Given the description of an element on the screen output the (x, y) to click on. 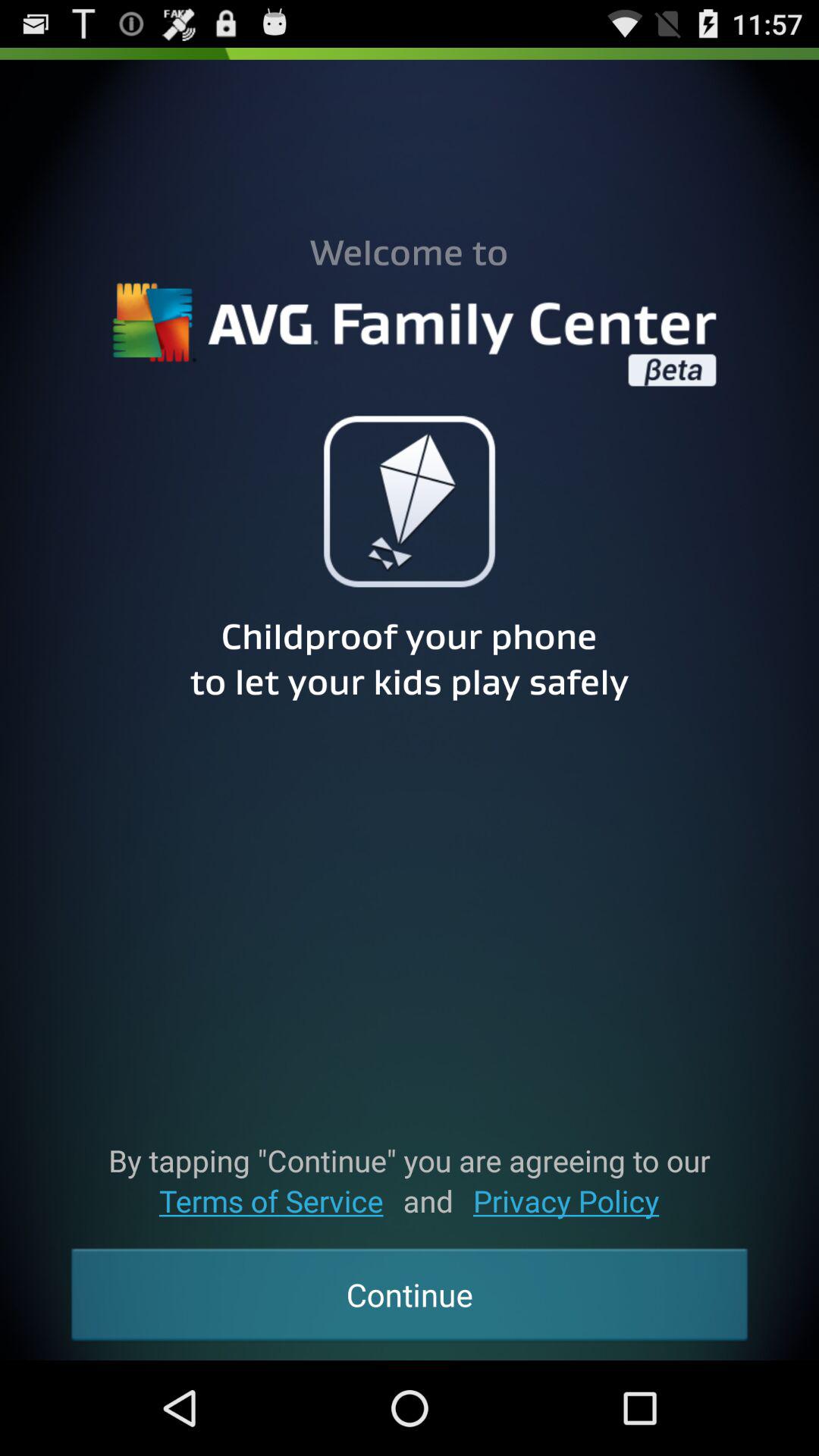
tap the privacy policy item (566, 1200)
